Given the description of an element on the screen output the (x, y) to click on. 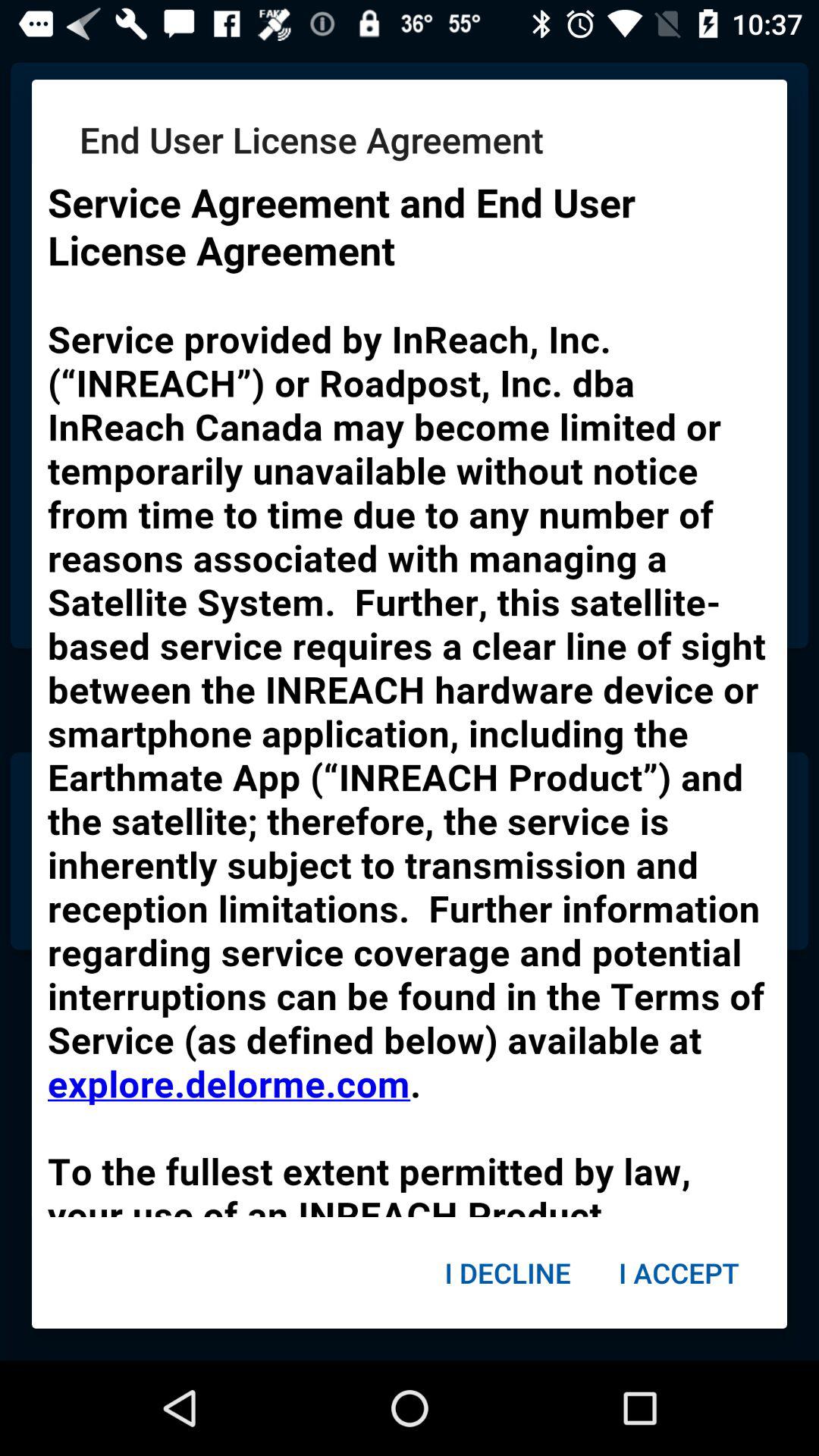
click on text (409, 690)
